Given the description of an element on the screen output the (x, y) to click on. 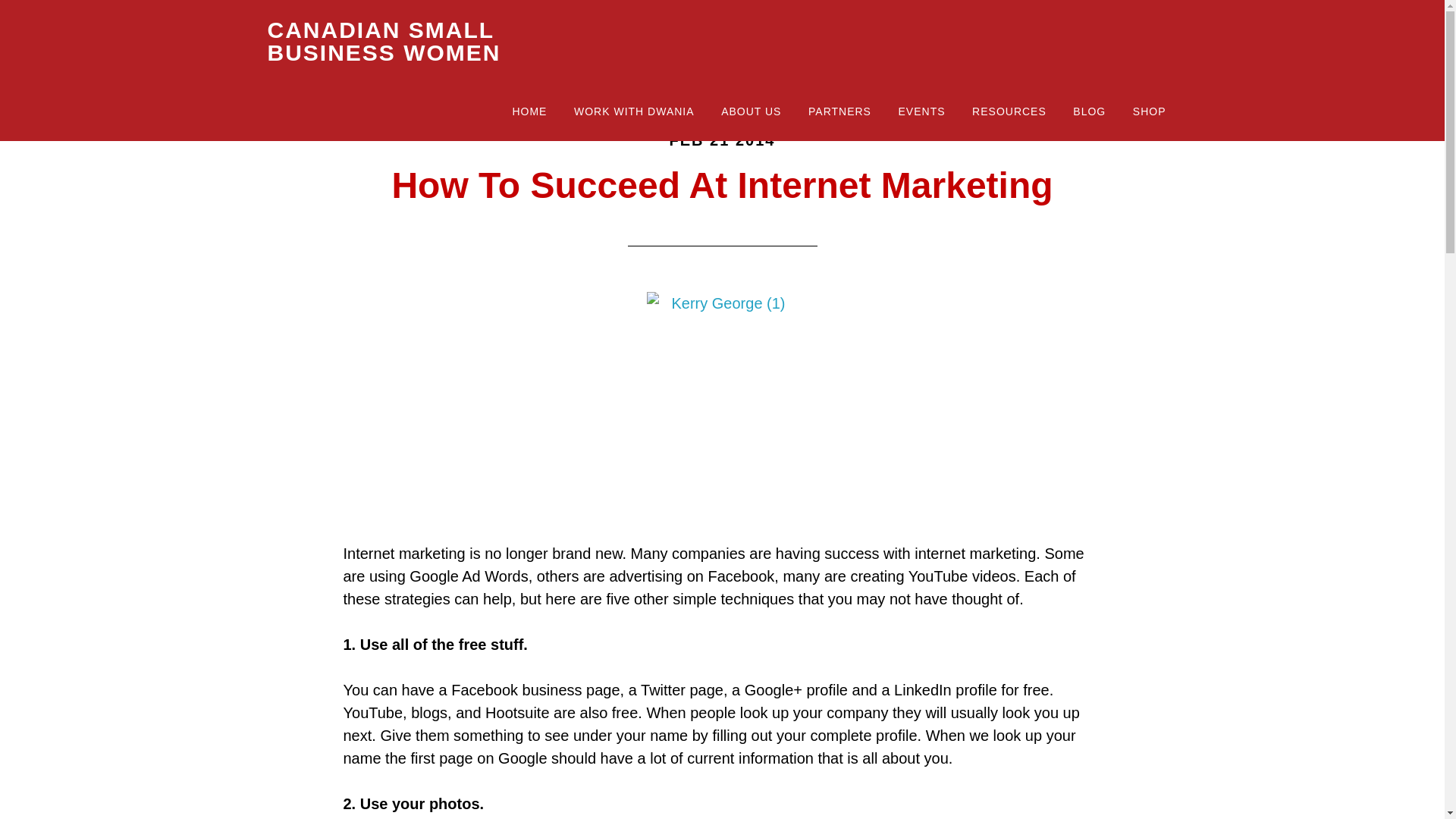
PARTNERS (839, 111)
HOME (528, 111)
RESOURCES (1009, 111)
EVENTS (921, 111)
ABOUT US (751, 111)
CANADIAN SMALL BUSINESS WOMEN (383, 41)
SHOP (1149, 111)
BLOG (1088, 111)
WORK WITH DWANIA (634, 111)
